Given the description of an element on the screen output the (x, y) to click on. 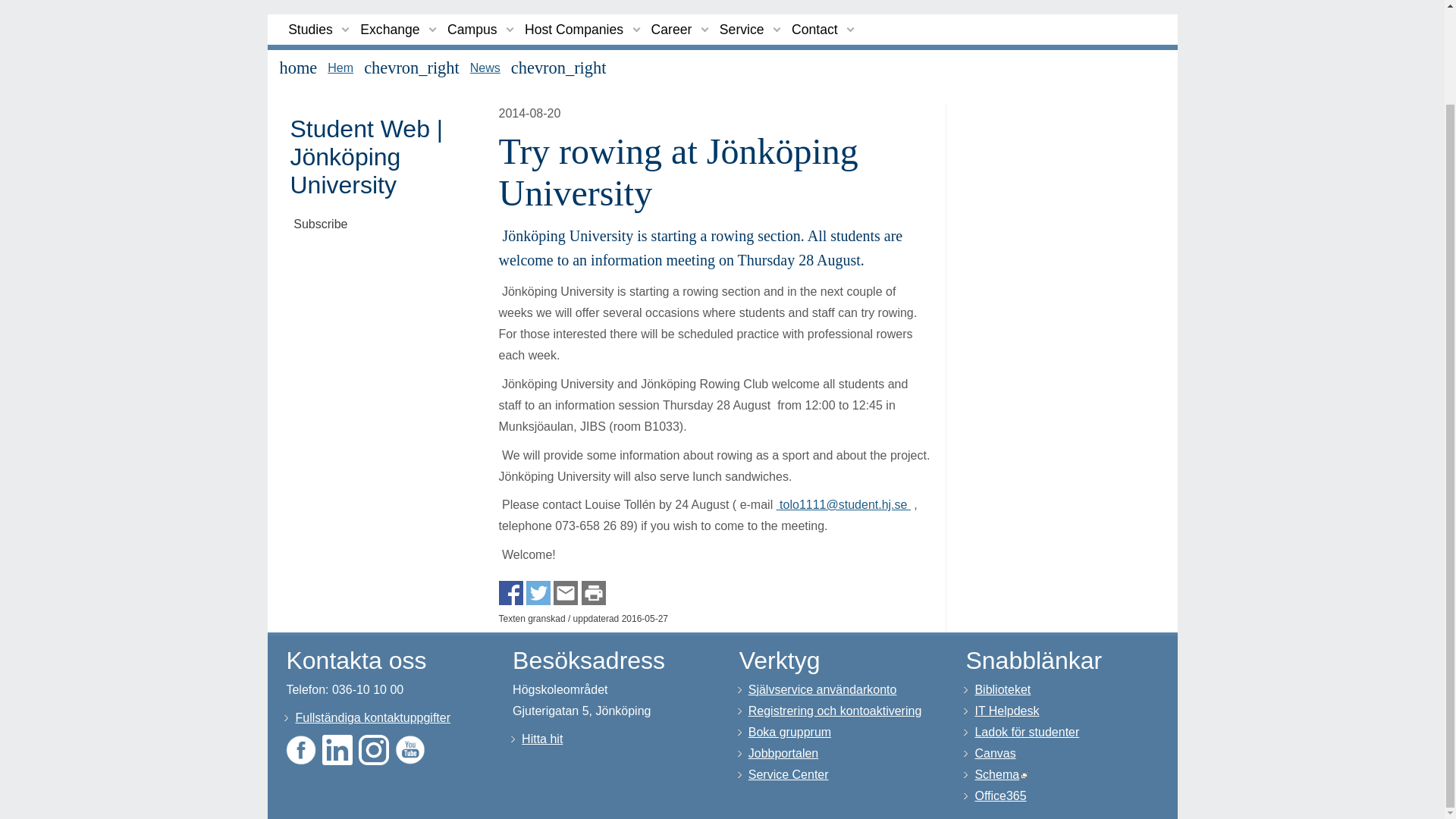
Expandera undermeny till Studies (345, 29)
Expandera undermeny till Exchange (432, 29)
Studies (310, 29)
